Given the description of an element on the screen output the (x, y) to click on. 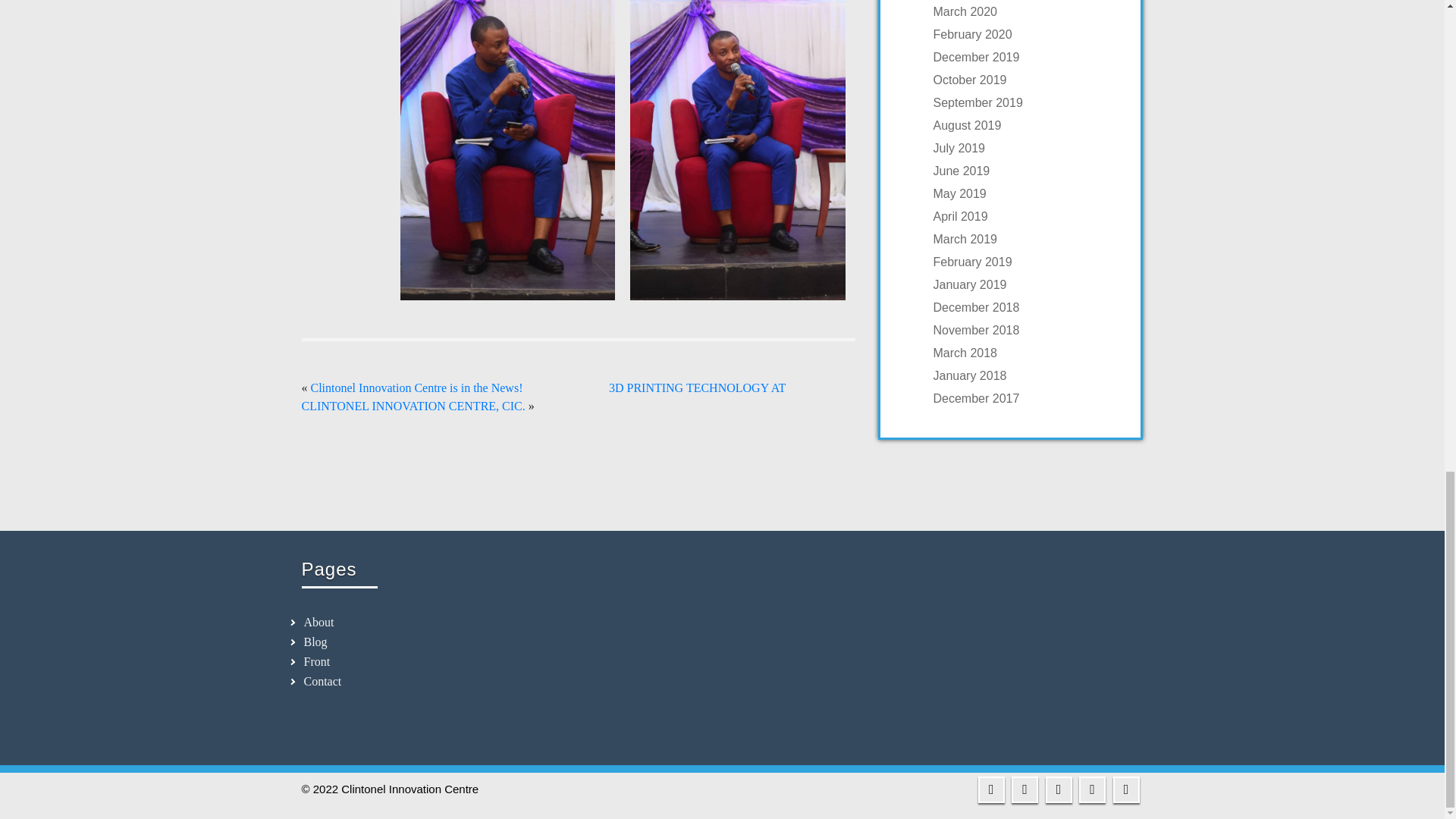
Clintonel Innovation Centre is in the News! (416, 387)
3D PRINTING TECHNOLOGY AT CLINTONEL INNOVATION CENTRE, CIC. (543, 396)
